Given the description of an element on the screen output the (x, y) to click on. 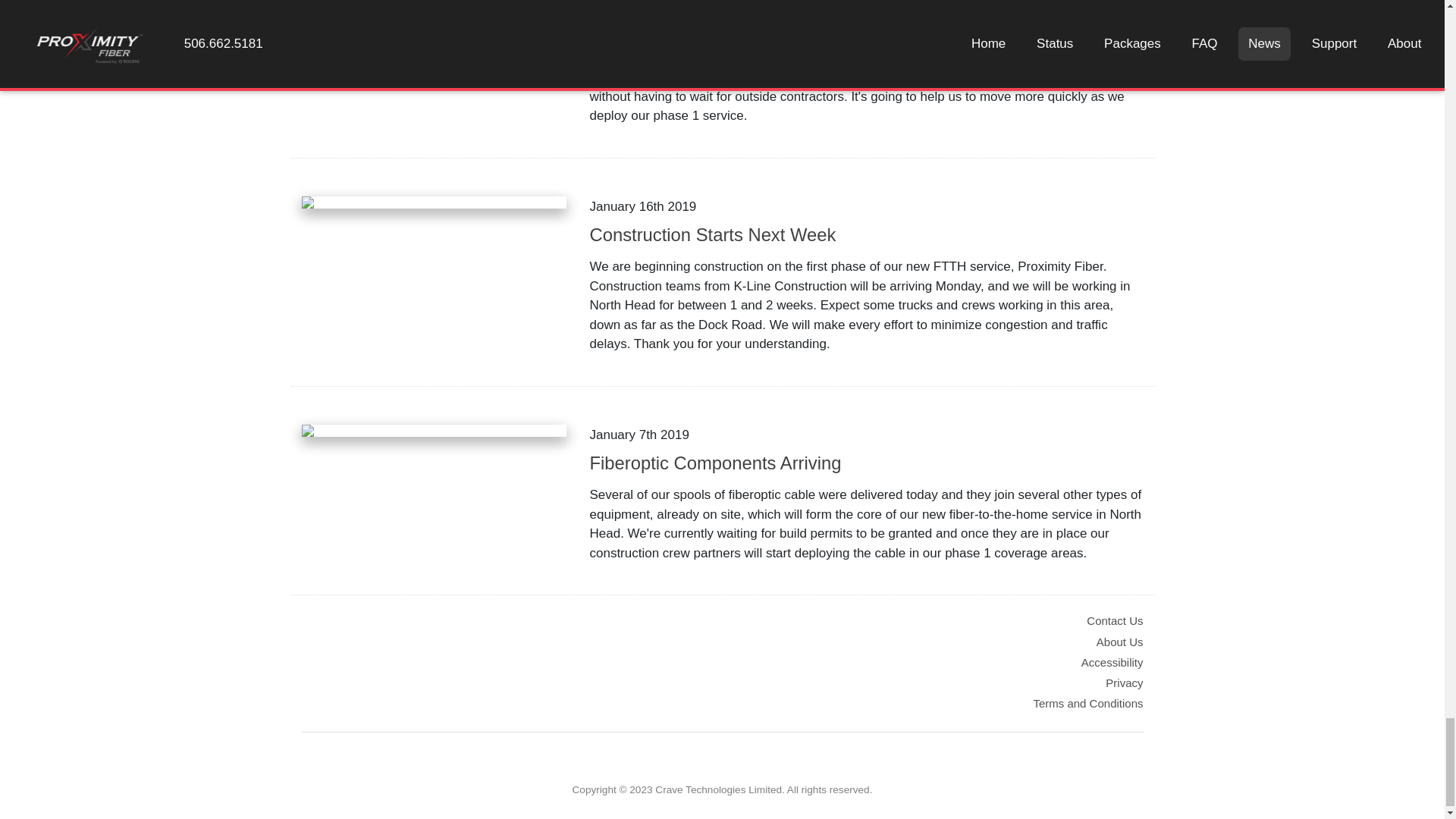
Accessibility (1111, 662)
About Us (1119, 641)
Privacy (1123, 682)
Terms and Conditions (1087, 703)
Contact Us (1114, 620)
